Given the description of an element on the screen output the (x, y) to click on. 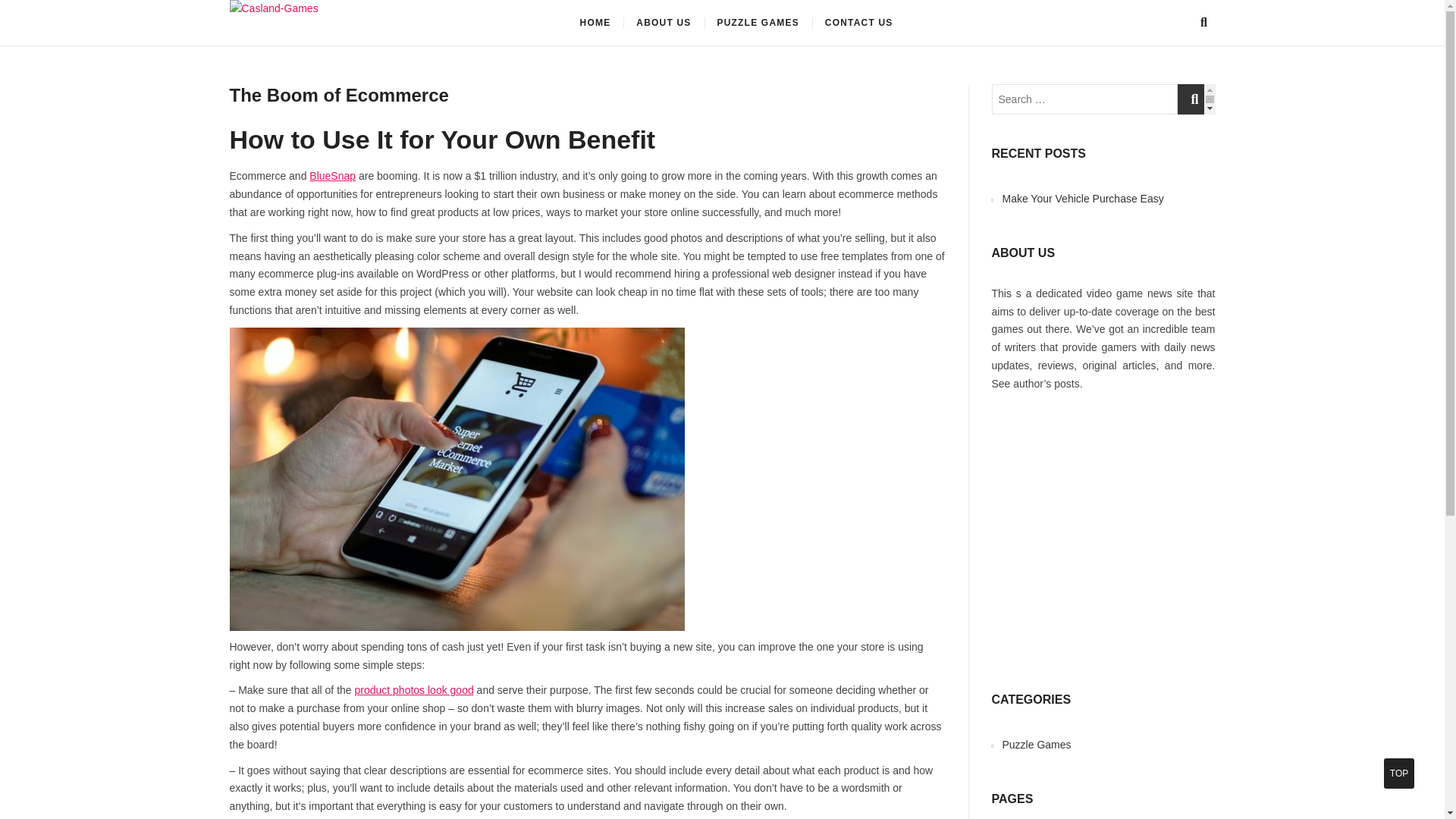
Casland-Games (420, 27)
The Boom of Ecommerce (338, 95)
CONTACT US (858, 22)
ABOUT US (662, 22)
Make Your Vehicle Purchase Easy (1083, 198)
Puzzle Games (1037, 744)
The Boom of Ecommerce (338, 95)
HOME (596, 22)
product photos look good (413, 689)
